Given the description of an element on the screen output the (x, y) to click on. 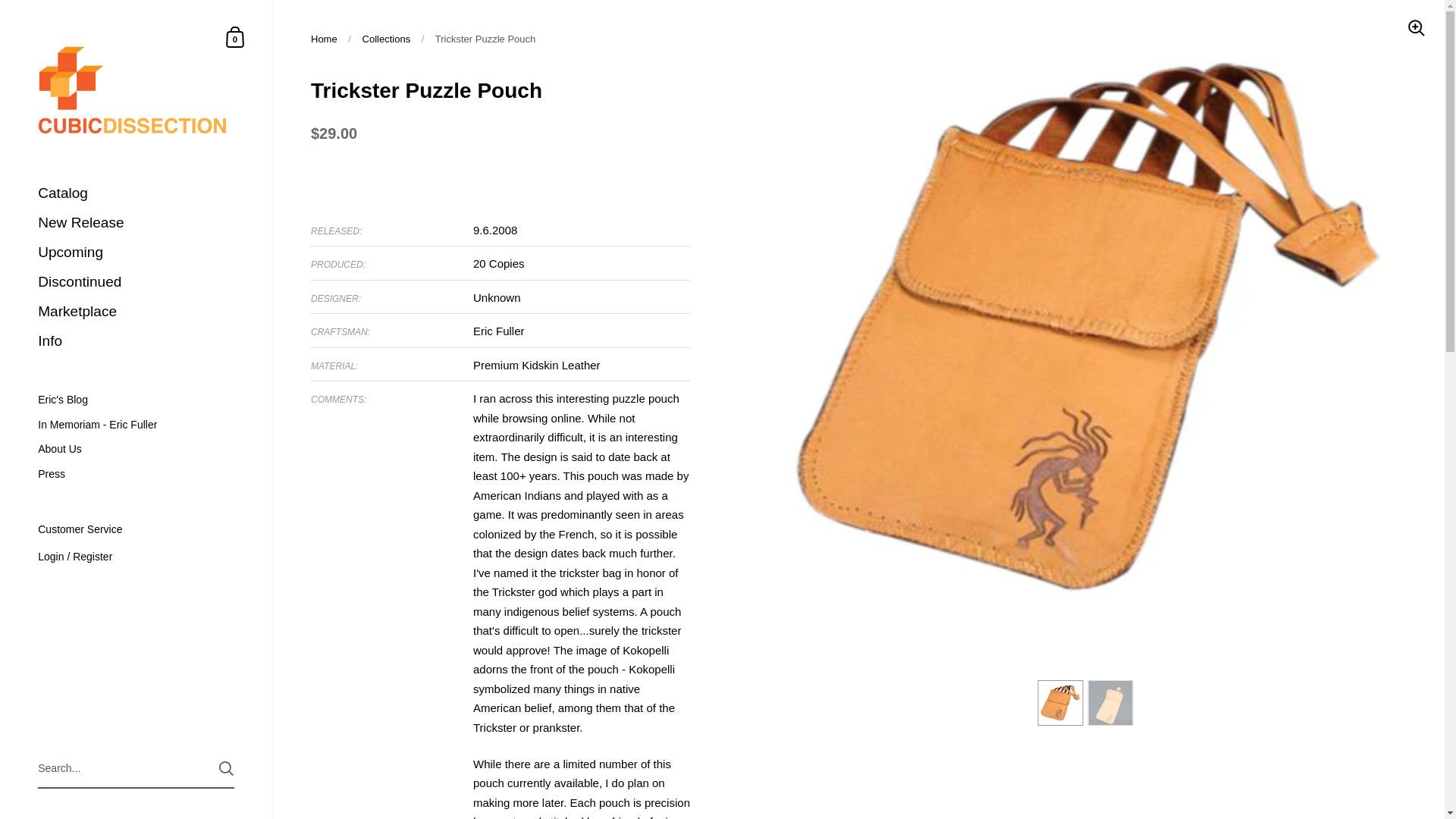
Shopping Cart (235, 35)
Press (136, 473)
In Memoriam - Eric Fuller (136, 424)
Discontinued (136, 282)
Collections (386, 39)
Home (324, 39)
0 (235, 35)
Upcoming (136, 252)
Marketplace (136, 311)
Eric's Blog (136, 399)
